Given the description of an element on the screen output the (x, y) to click on. 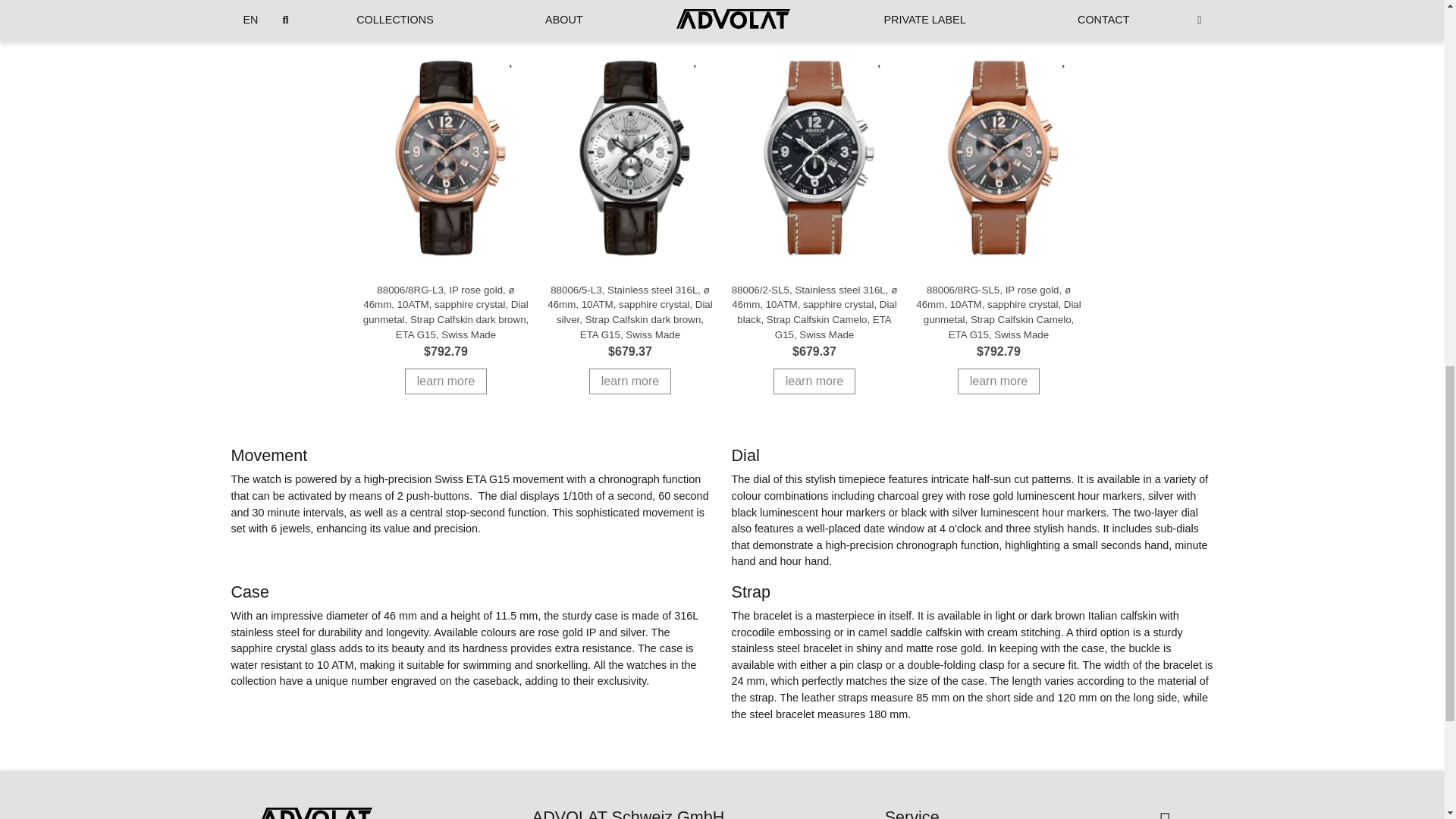
learn more (998, 380)
learn more (630, 380)
learn more (814, 380)
learn more (445, 380)
